Given the description of an element on the screen output the (x, y) to click on. 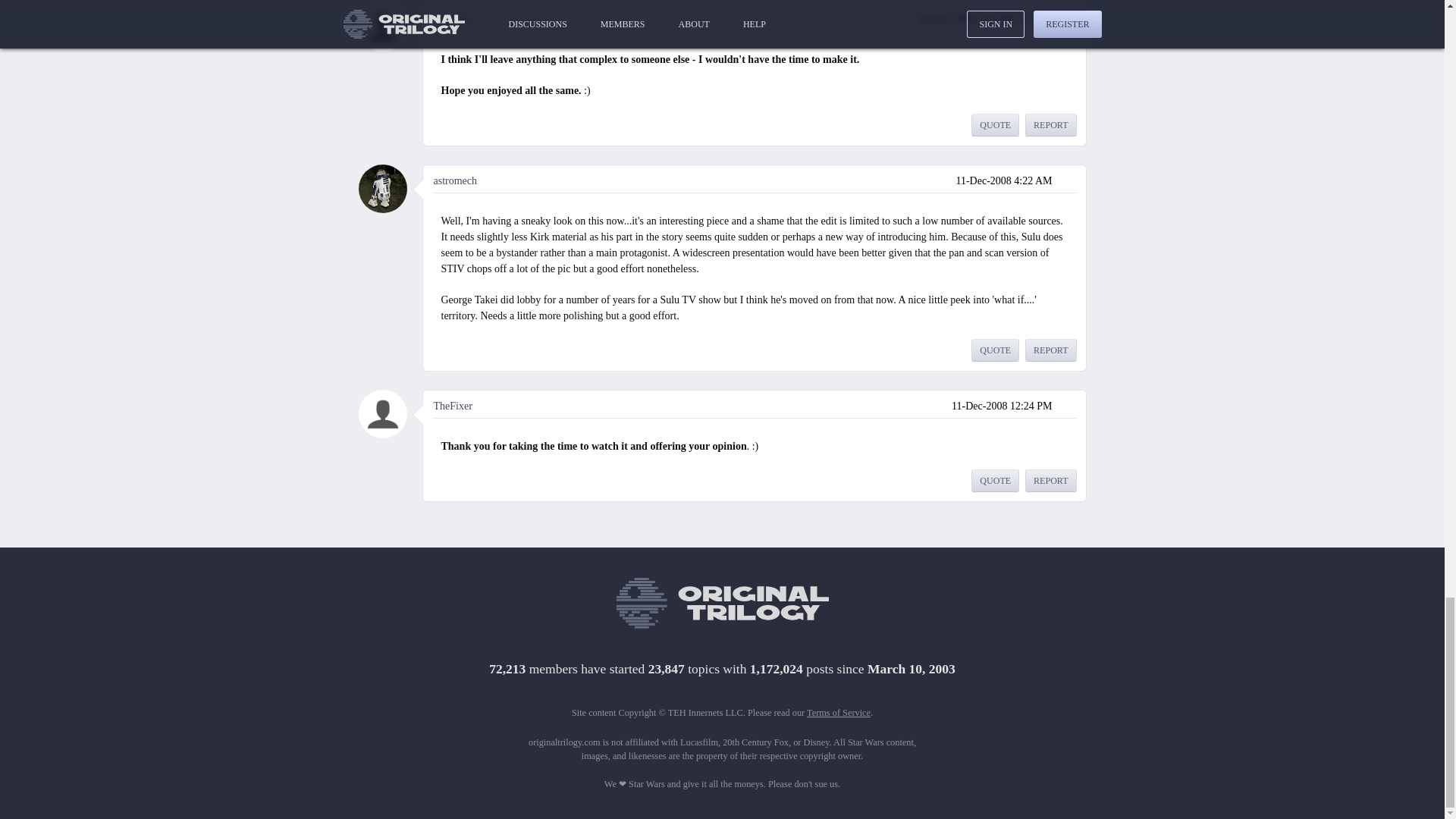
Jump directly to this post. (1067, 405)
Jump directly to this post. (1067, 18)
Jump directly to this post. (1067, 180)
Go to our home page. (721, 603)
